Given the description of an element on the screen output the (x, y) to click on. 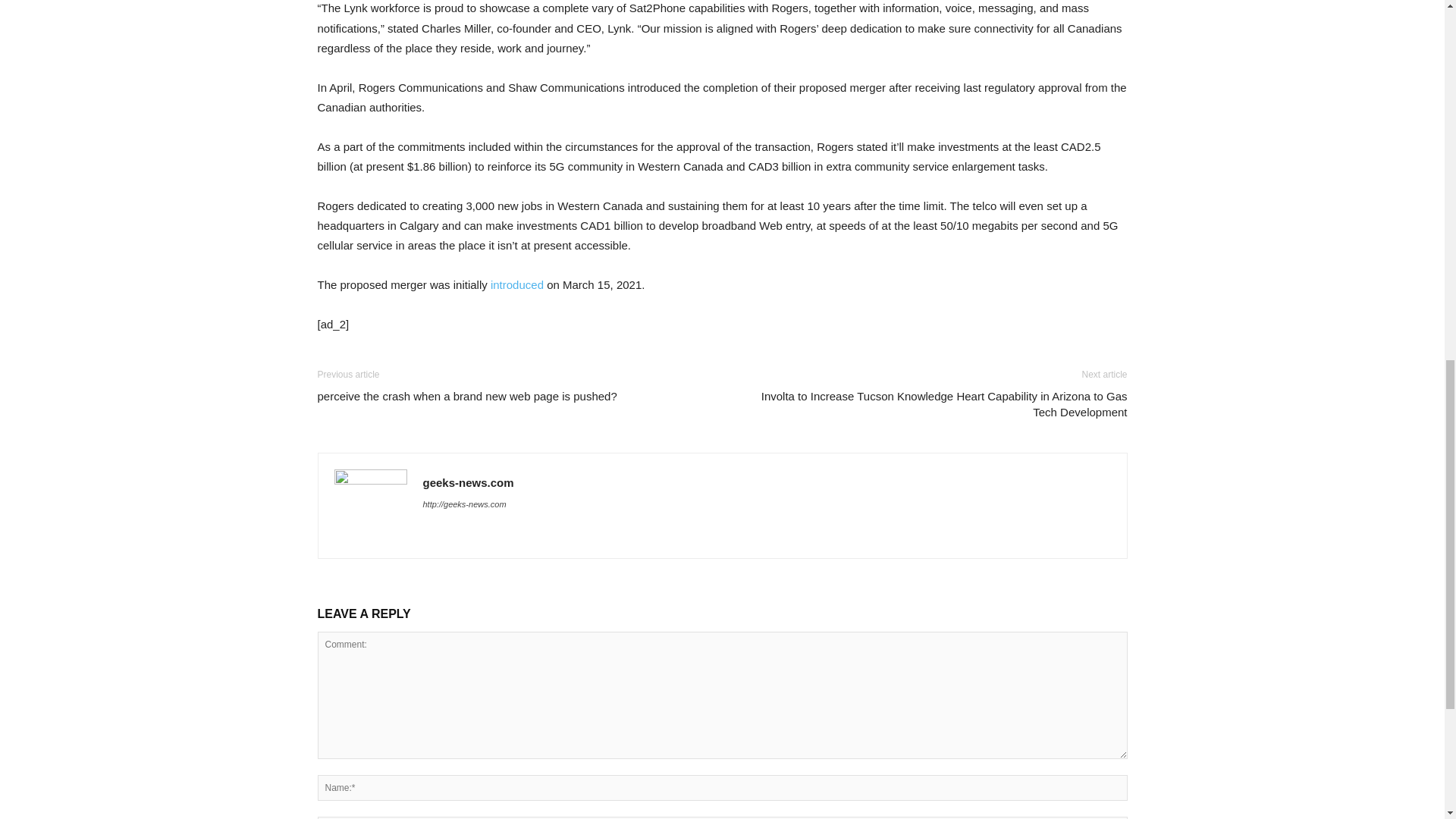
geeks-news.com (468, 481)
perceive the crash when a brand new web page is pushed? (466, 396)
introduced (516, 284)
